Given the description of an element on the screen output the (x, y) to click on. 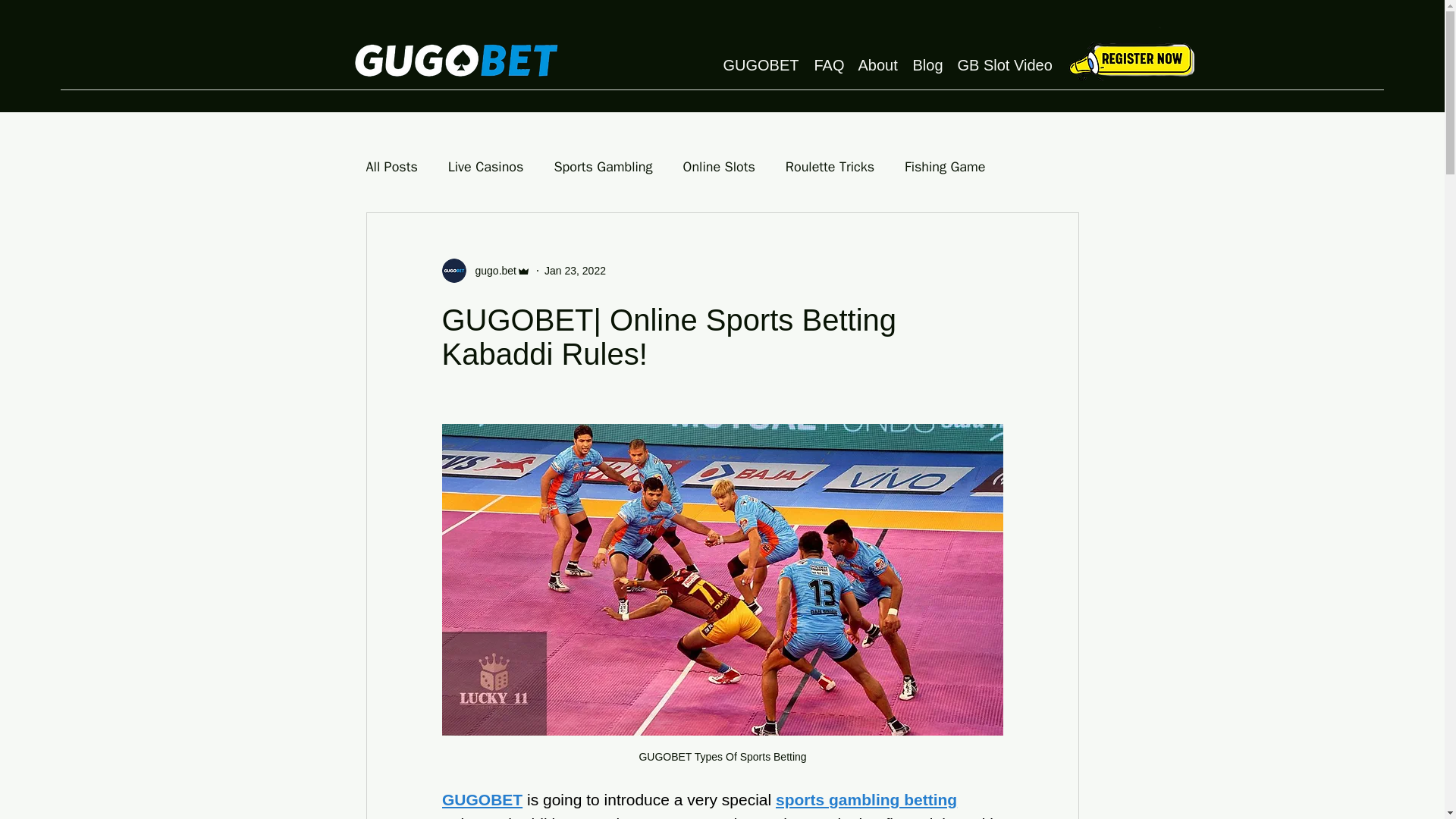
Roulette Tricks (830, 167)
Blog (927, 63)
GUGOBET (481, 799)
Sports Gambling (602, 167)
Gugobet login.png (1129, 59)
All Posts (390, 167)
gugo.bet (490, 270)
Online Slots (718, 167)
Live Casinos (486, 167)
Fishing Game (944, 167)
sports gambling betting (866, 799)
Jan 23, 2022 (574, 269)
GUGOBET (761, 63)
GB Slot Video (1003, 63)
About (877, 63)
